Given the description of an element on the screen output the (x, y) to click on. 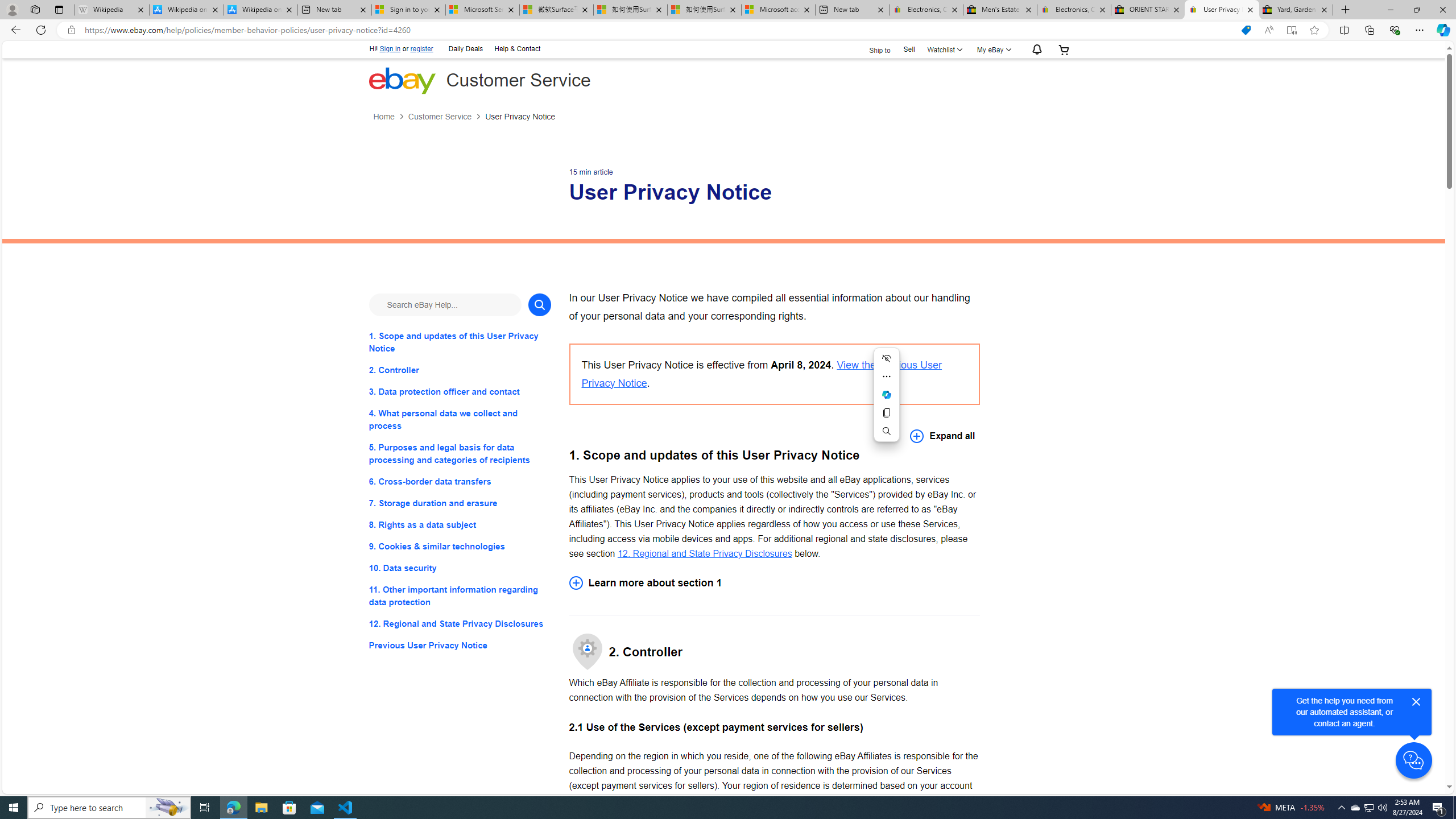
WatchlistExpand Watch List (943, 49)
Watchlist (943, 49)
AutomationID: gh-eb-Alerts (1035, 49)
11. Other important information regarding data protection (459, 596)
Mini menu on text selection (886, 401)
Ship to (872, 50)
My eBayExpand My eBay (992, 49)
4. What personal data we collect and process (459, 419)
2. Controller (459, 369)
